Given the description of an element on the screen output the (x, y) to click on. 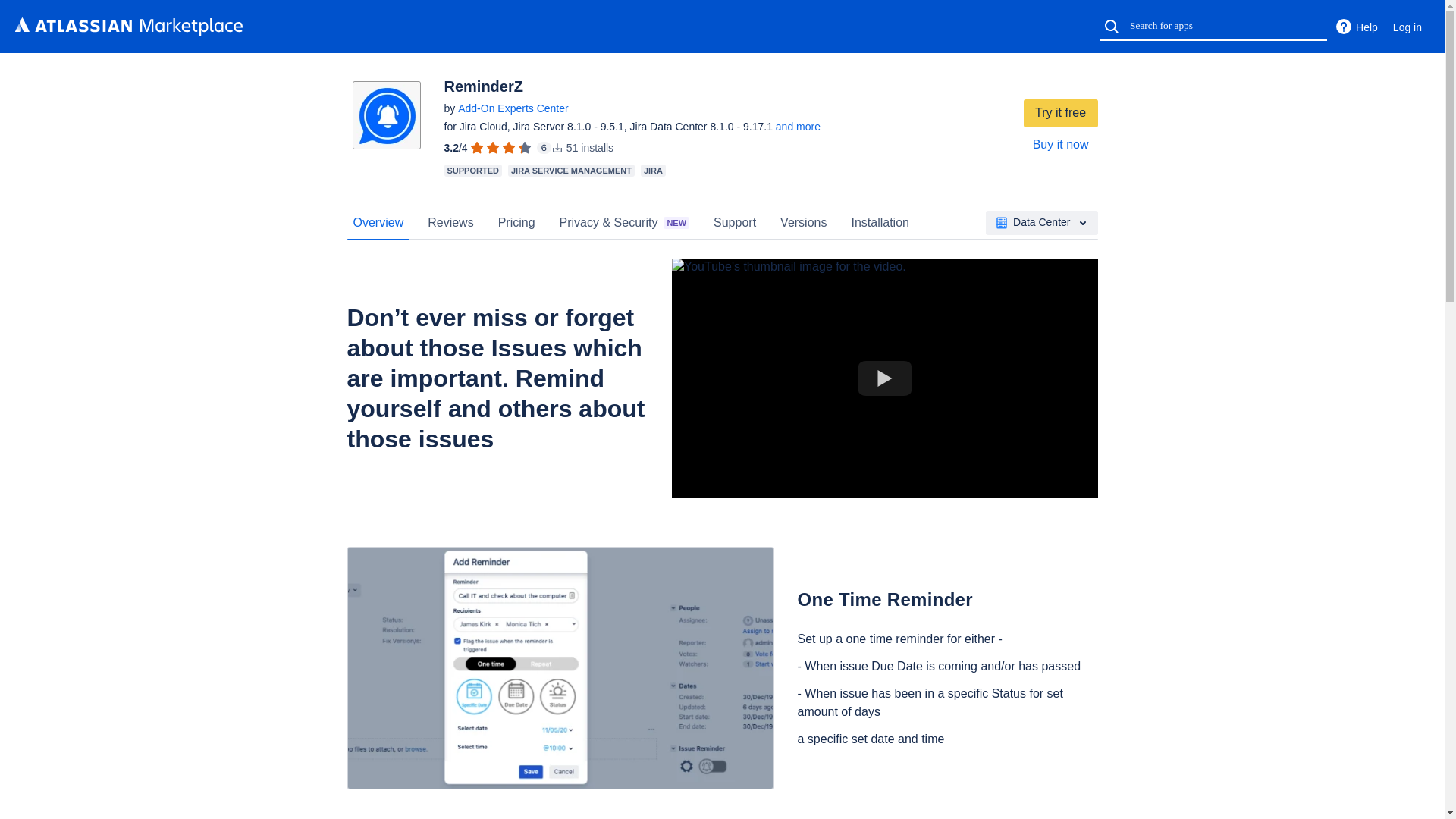
Log in (1407, 26)
Add-On Experts Center (513, 108)
Data Center (1041, 222)
View version history for more details (798, 126)
Try it free (1060, 113)
and more (798, 126)
Buy it now (1060, 144)
Help (1356, 26)
Atlassian Marketplace (128, 26)
